Given the description of an element on the screen output the (x, y) to click on. 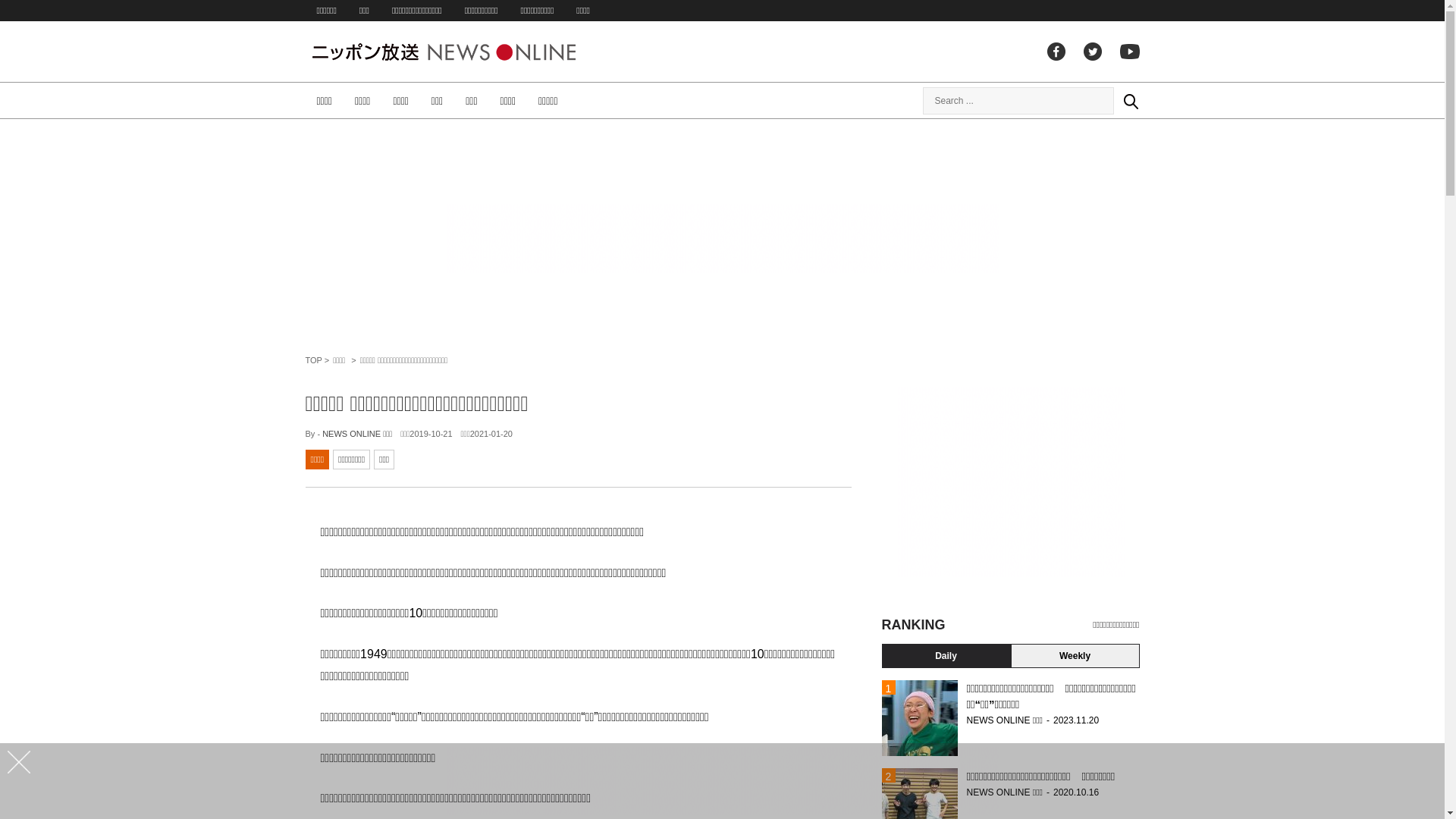
Twitter Element type: text (1091, 51)
youtube Element type: text (1129, 51)
3rd party ad content Element type: hover (721, 780)
Daily Element type: text (945, 655)
facebook Element type: text (1055, 51)
Search Element type: text (1129, 100)
Weekly Element type: text (1074, 655)
TOP Element type: text (312, 359)
3rd party ad content Element type: hover (1009, 481)
3rd party ad content Element type: hover (721, 237)
